Given the description of an element on the screen output the (x, y) to click on. 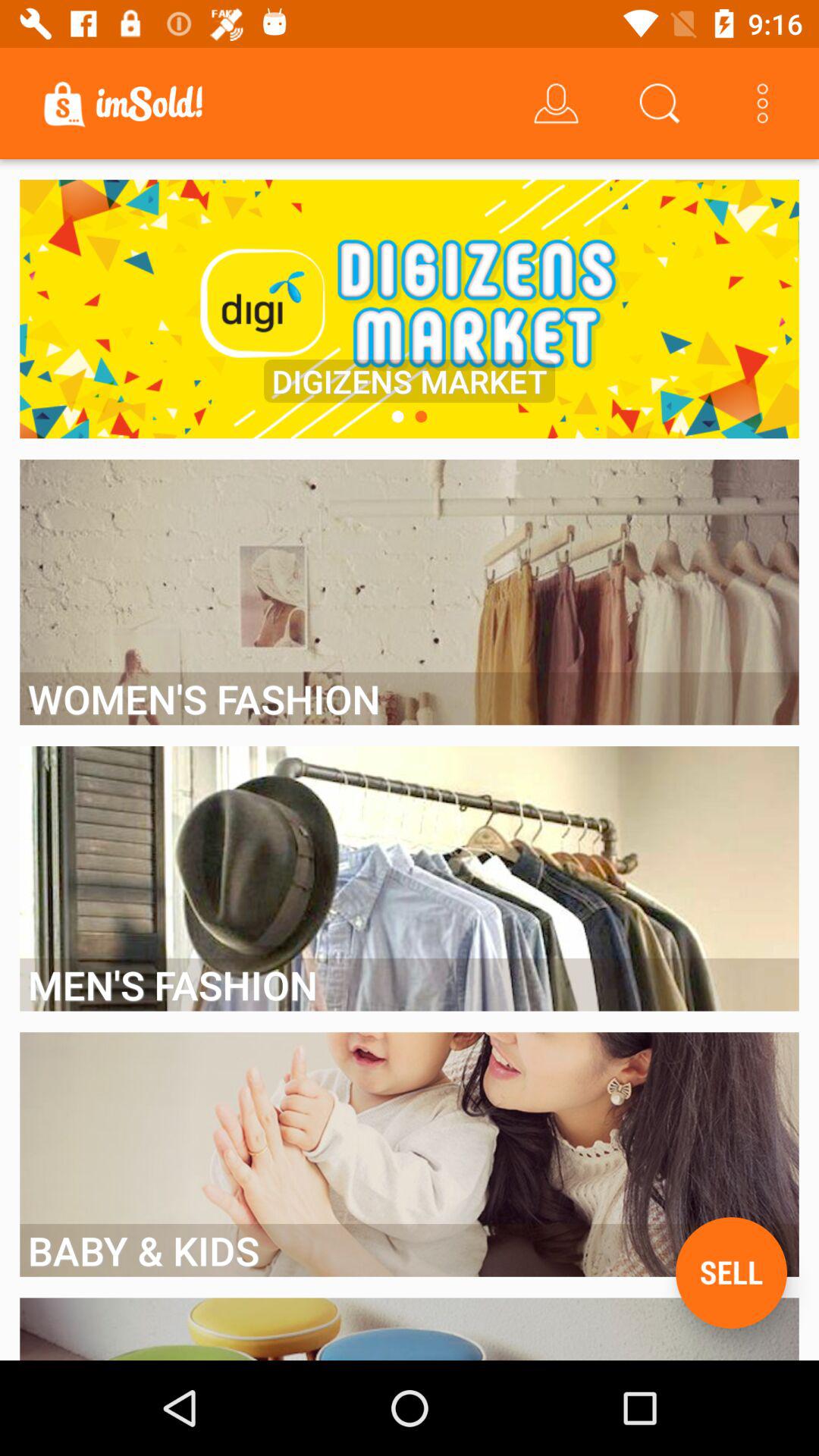
launch the digizens market (409, 380)
